Given the description of an element on the screen output the (x, y) to click on. 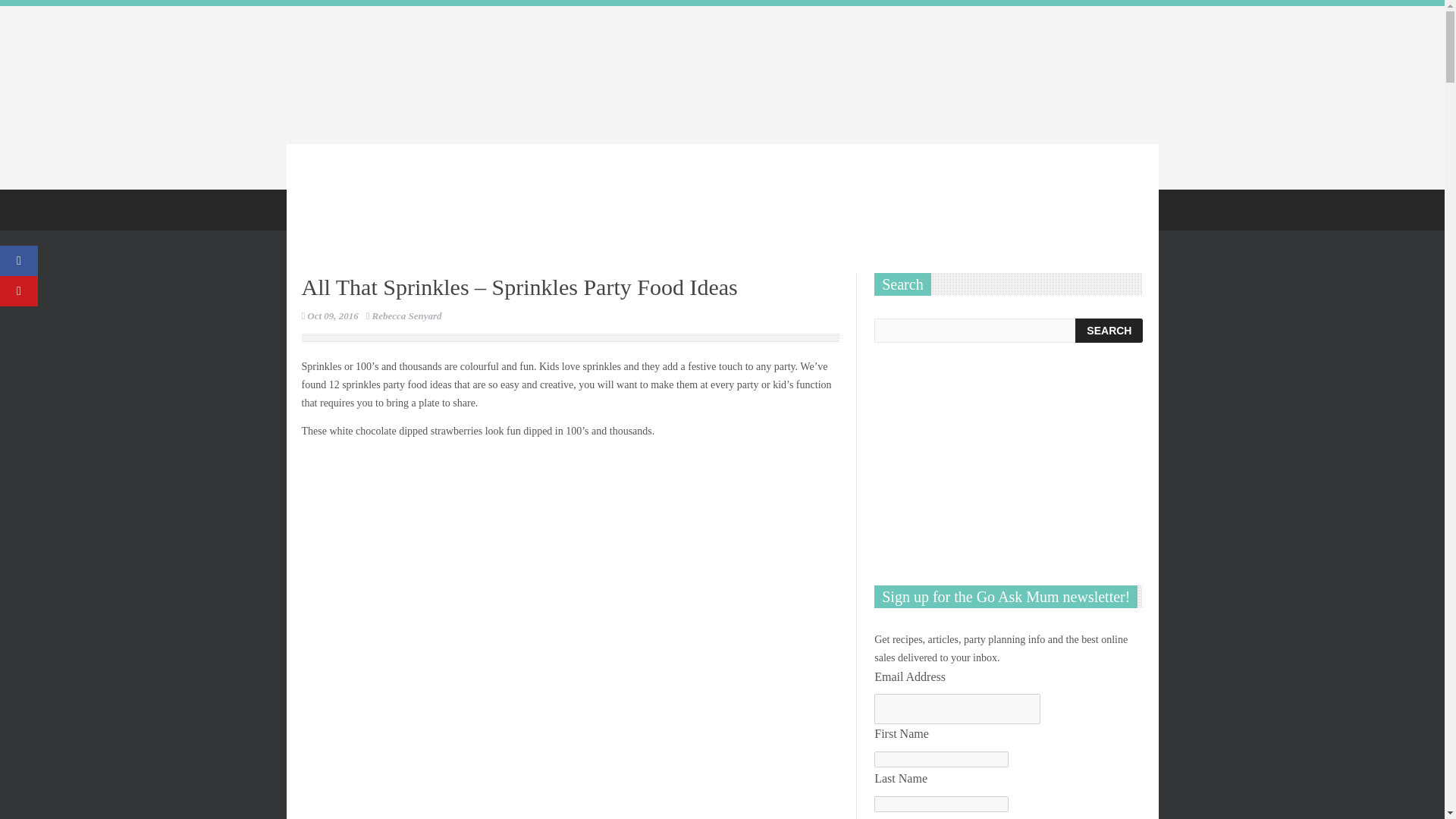
Home (326, 208)
Celebrity (454, 208)
Baby Talk (387, 208)
Competitions (528, 208)
Parent Talk (708, 208)
Product Reviews (619, 208)
Rebecca Senyard (407, 315)
Posts by Rebecca Senyard (407, 315)
Search (1108, 330)
Ask Mum (779, 208)
